Given the description of an element on the screen output the (x, y) to click on. 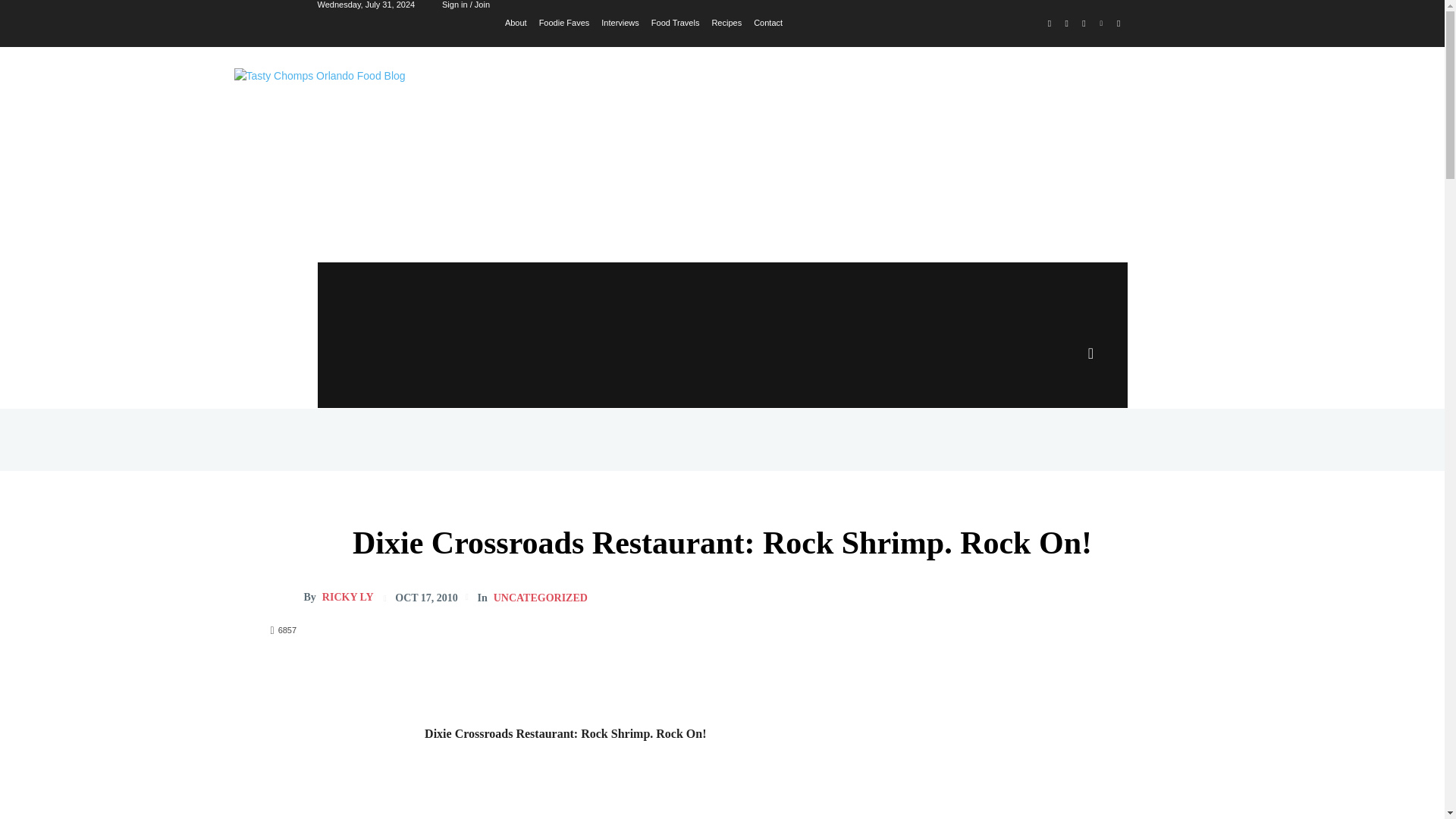
Recipes (726, 22)
Ricky Ly (285, 597)
Tasty Chomps Orlando Food Blog (439, 135)
Instagram (1066, 23)
Food Travels (675, 22)
Foodie Faves (563, 22)
Twitter (1084, 23)
Interviews (620, 22)
About (516, 22)
Facebook (1049, 23)
